Given the description of an element on the screen output the (x, y) to click on. 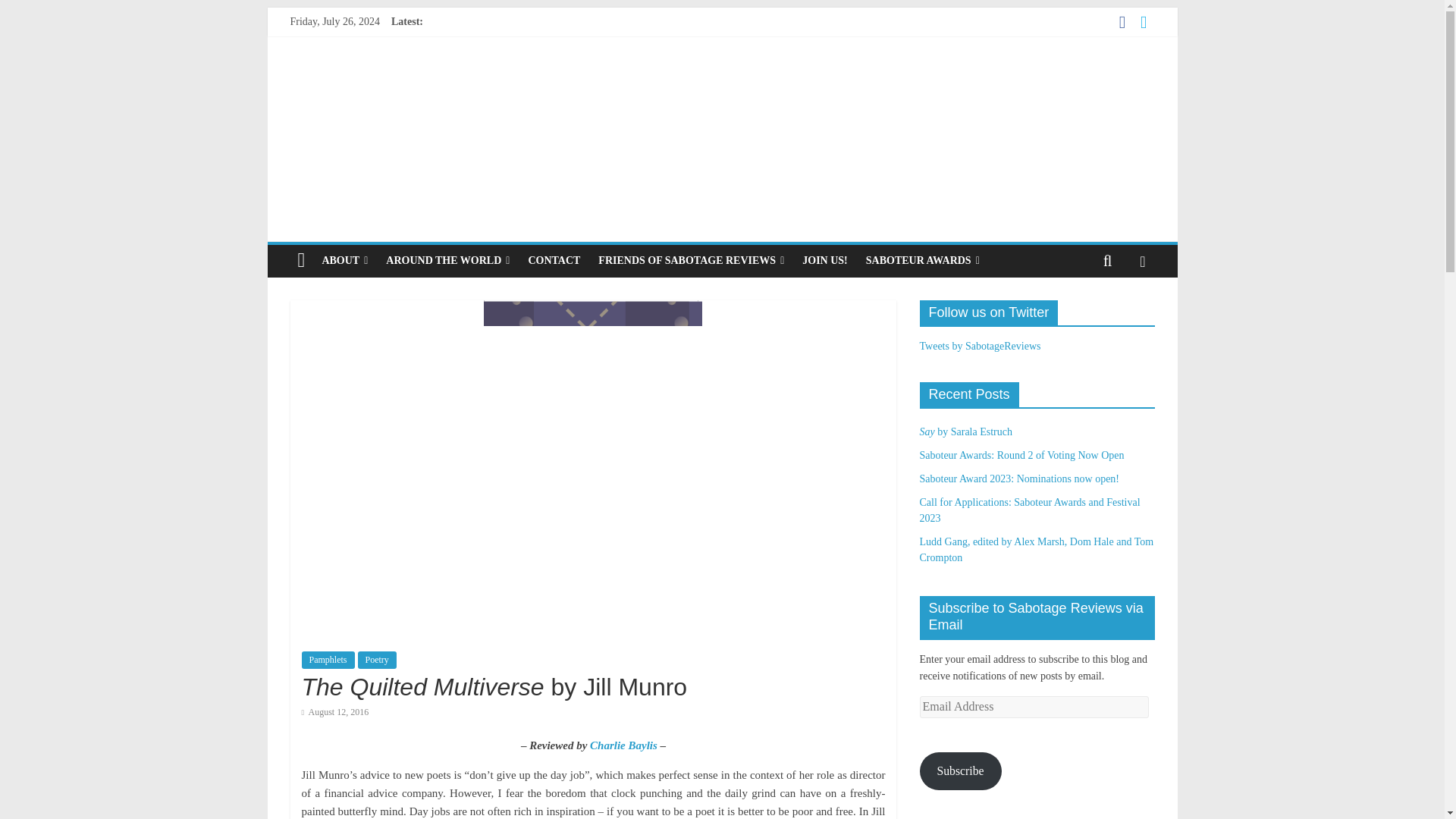
August 12, 2016 (335, 711)
CONTACT (553, 260)
JOIN US! (825, 260)
Charlie Baylis (623, 745)
AROUND THE WORLD (447, 260)
12:00 pm (335, 711)
Pamphlets (328, 659)
SABOTEUR AWARDS (922, 260)
ABOUT (345, 260)
FRIENDS OF SABOTAGE REVIEWS (691, 260)
Poetry (377, 659)
